Given the description of an element on the screen output the (x, y) to click on. 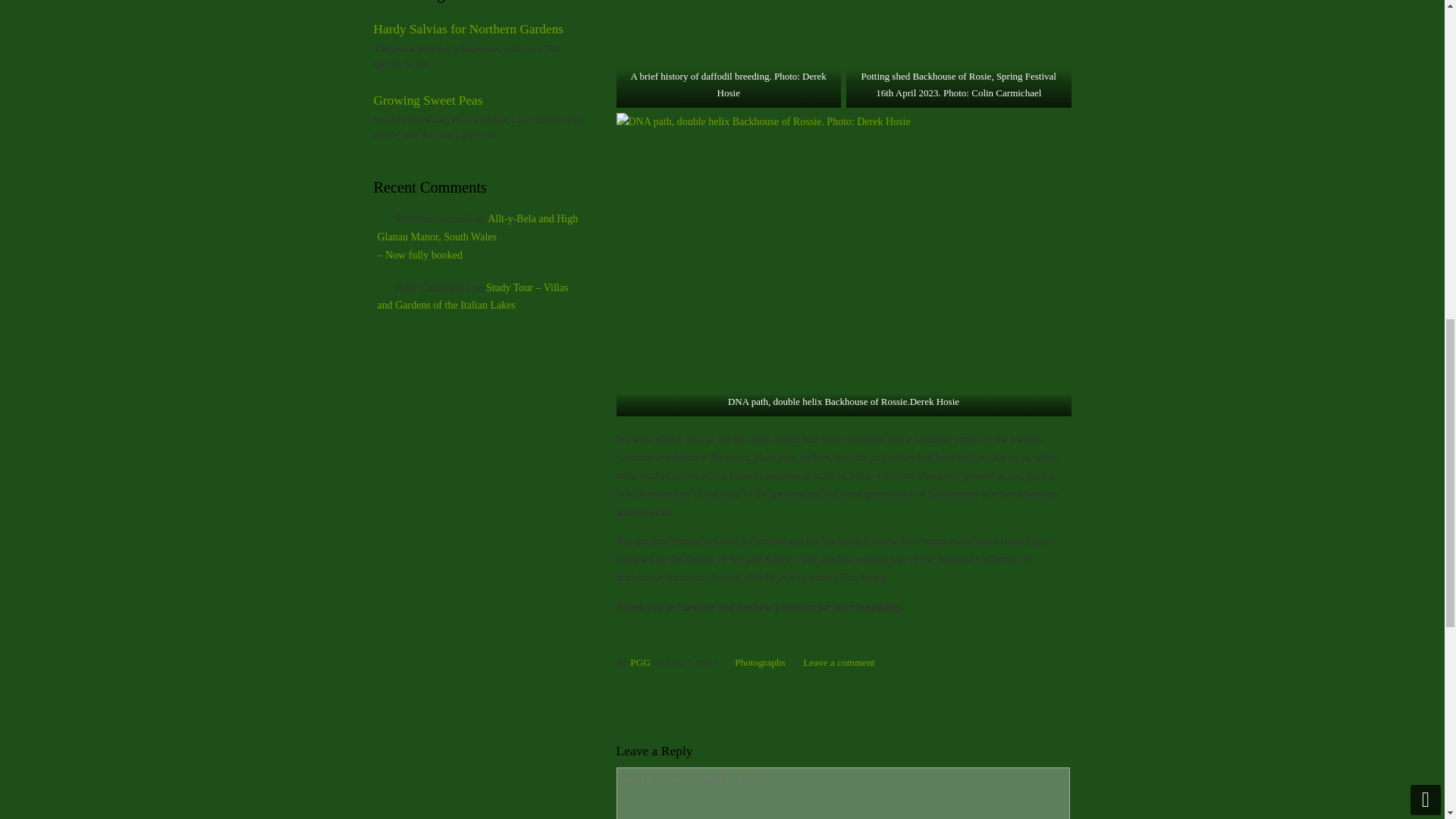
Photographs (760, 661)
PGG (640, 661)
Leave a comment (839, 661)
